Given the description of an element on the screen output the (x, y) to click on. 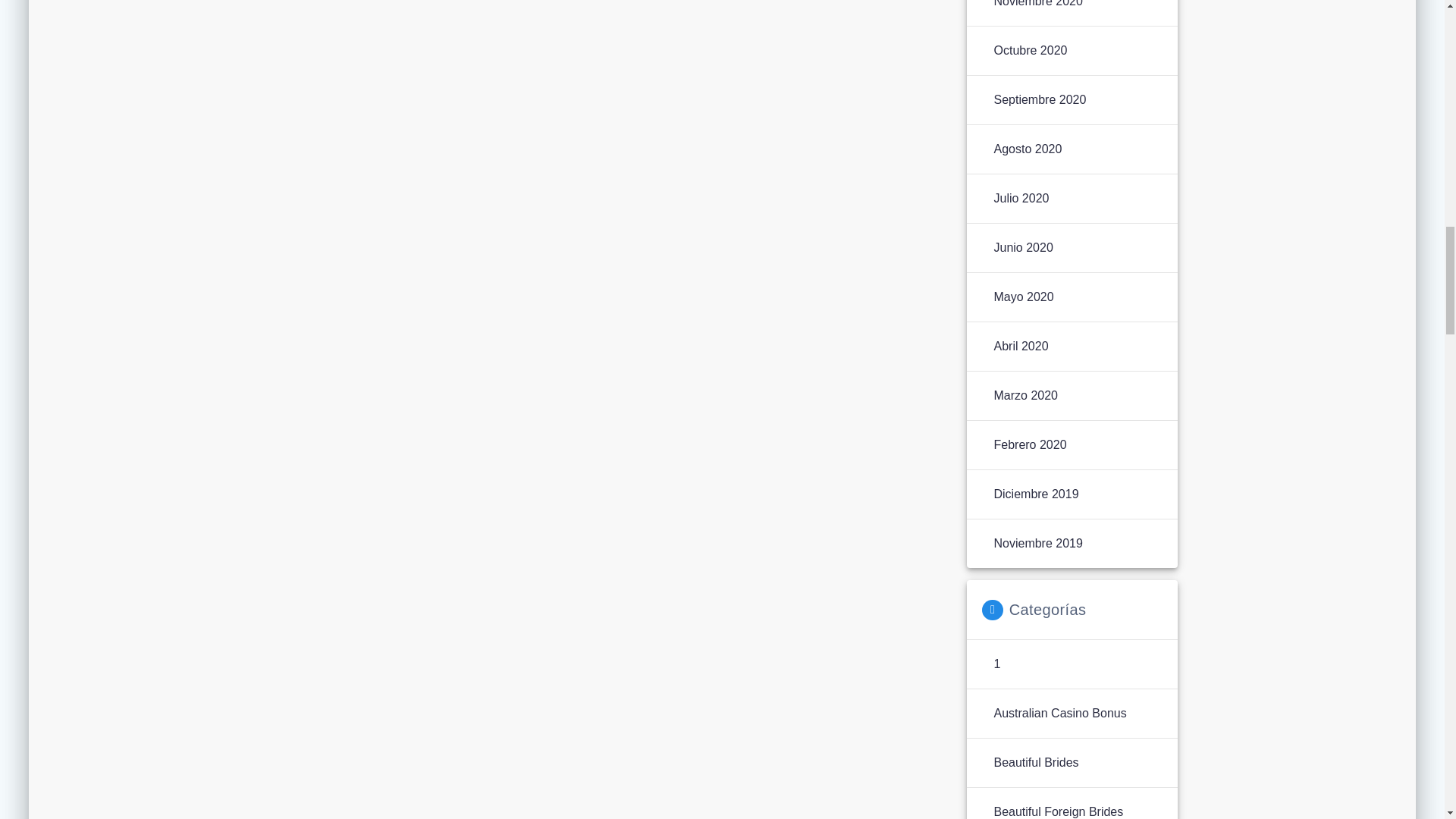
Octubre 2020 (1029, 50)
Noviembre 2020 (1036, 5)
Agosto 2020 (1026, 149)
Mayo 2020 (1022, 297)
Junio 2020 (1022, 248)
Julio 2020 (1020, 198)
Septiembre 2020 (1039, 99)
